Given the description of an element on the screen output the (x, y) to click on. 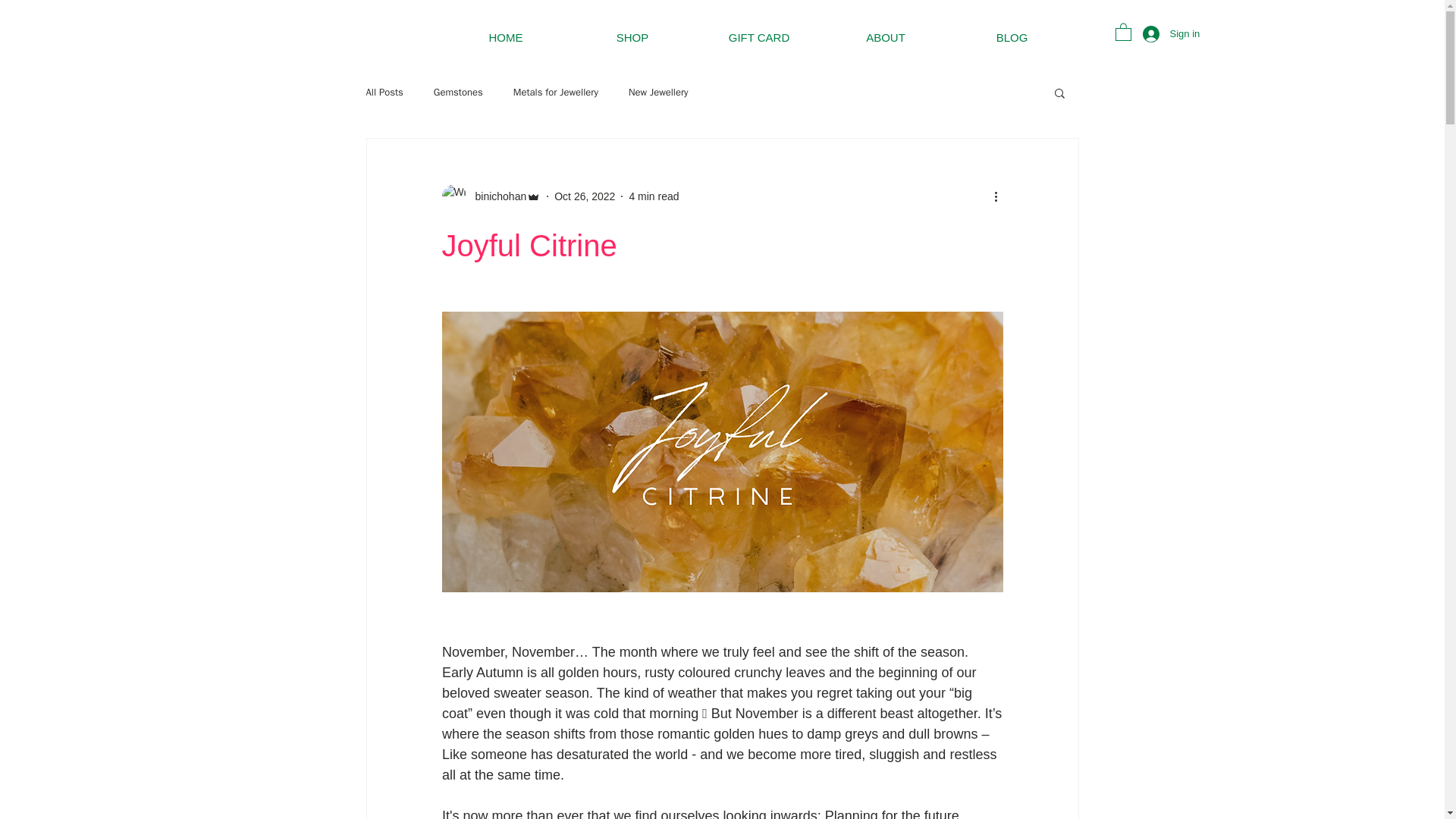
All Posts (384, 92)
Sign in (1150, 33)
HOME (505, 42)
Metals for Jewellery (555, 92)
binichohan (490, 196)
4 min read (653, 195)
Gemstones (458, 92)
ABOUT (885, 42)
New Jewellery (658, 92)
BLOG (1012, 42)
